Given the description of an element on the screen output the (x, y) to click on. 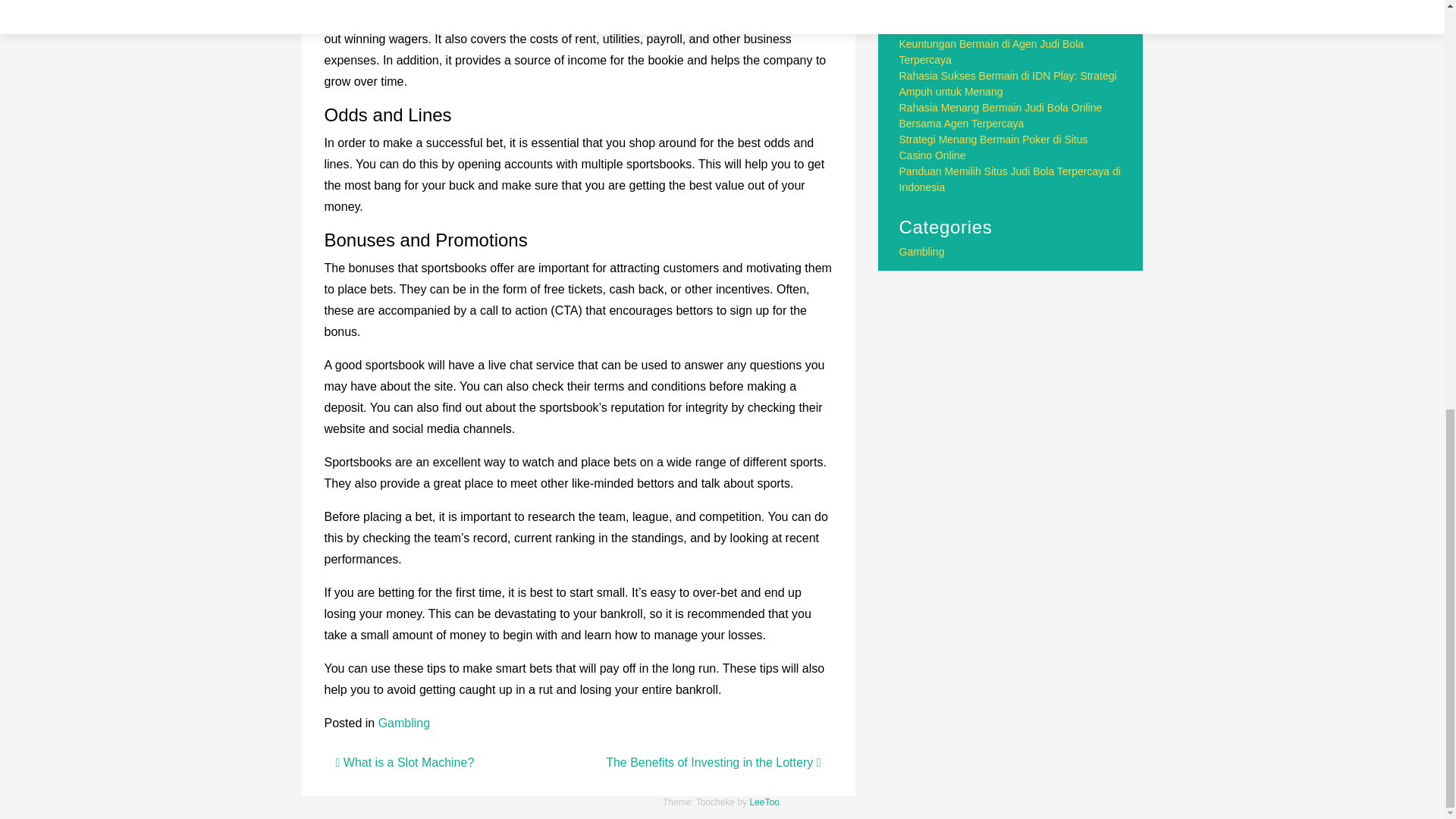
Gambling (403, 722)
 What is a Slot Machine? (404, 762)
LeeToo (763, 801)
Panduan Memilih Situs Judi Bola Terpercaya di Indonesia (1010, 179)
Strategi Menang Bermain Poker di Situs Casino Online (993, 147)
Keuntungan Bermain di Agen Judi Bola Terpercaya (991, 51)
The Benefits of Investing in the Lottery  (713, 762)
Gambling (921, 251)
